Given the description of an element on the screen output the (x, y) to click on. 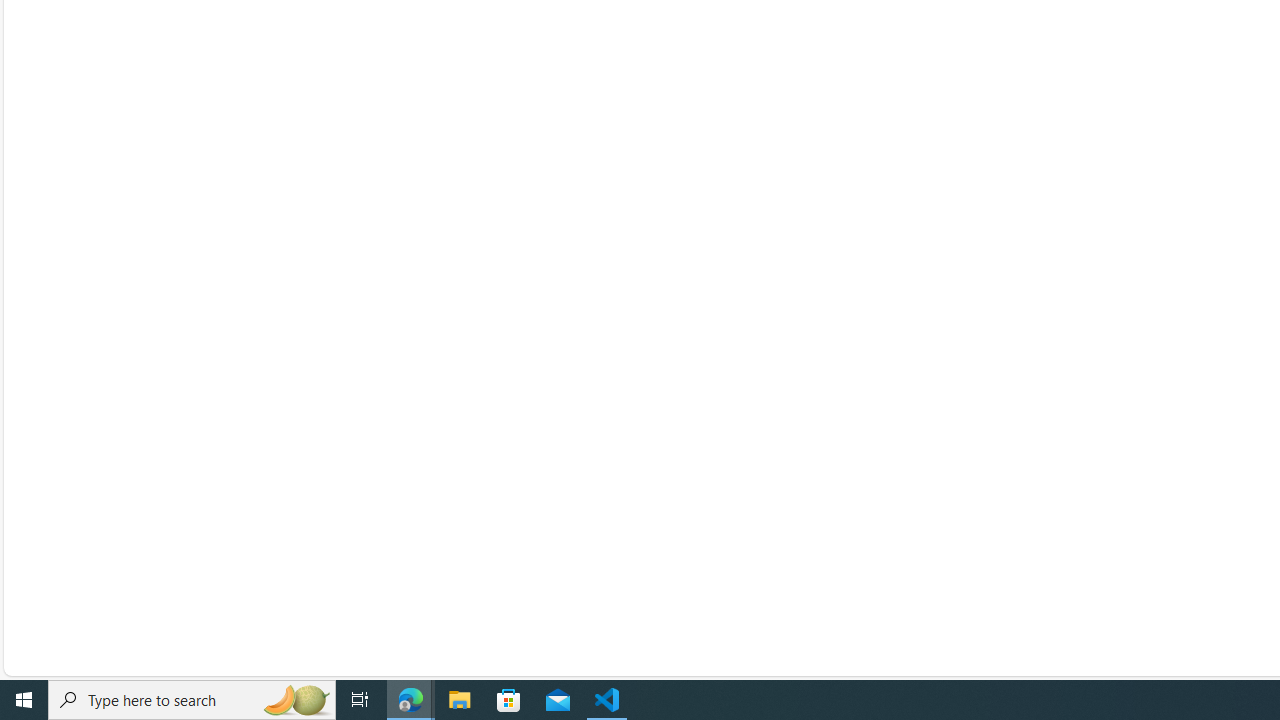
Microsoft Store support (859, 404)
Microsoft 365 Education Education (1063, 436)
Microsoft in education Education (1059, 339)
Microsoft 365 Education (1126, 436)
Microsoft Teams for Education (1126, 404)
Educator training and development Education (1090, 500)
Microsoft in education (1126, 340)
Your Privacy Choices Opt-Out Icon (643, 630)
Surface Laptop Studio 2 What's new (517, 403)
Certified Refurbished (859, 500)
Azure for students Education (1049, 564)
Certified Refurbished Microsoft Store (789, 500)
Order tracking Microsoft Store (773, 467)
Flexible Payments (859, 564)
Azure for students (1126, 564)
